Given the description of an element on the screen output the (x, y) to click on. 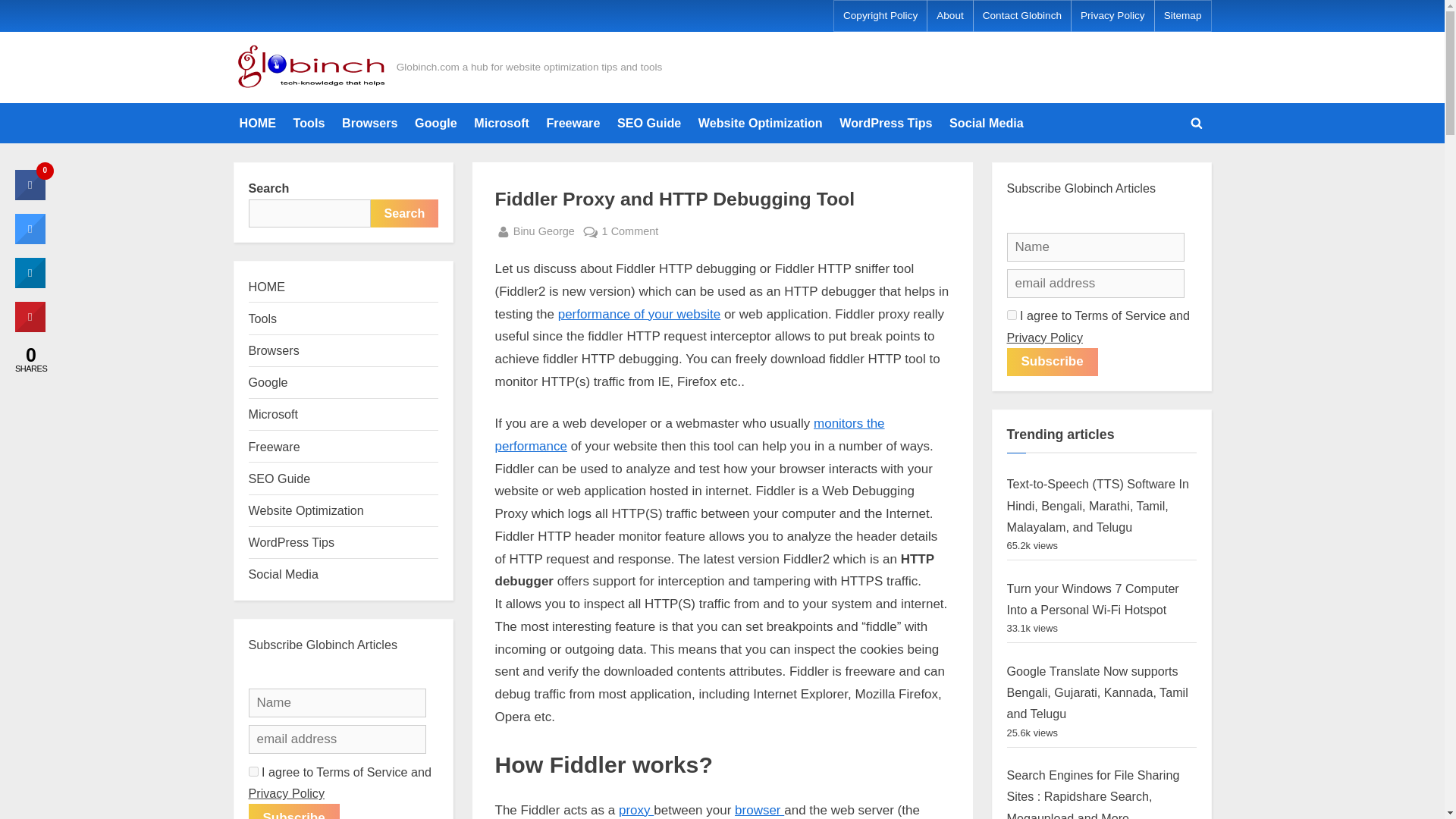
Toggle search form (1196, 123)
Microsoft Products Tips (501, 123)
Sitemap (1182, 15)
Website Optimization Techniques (760, 123)
WordPress Tips (884, 123)
Microsoft (501, 123)
Globinch Sitemap (546, 230)
true (1182, 15)
proxy (1011, 315)
monitors the performance (635, 810)
Privacy Policy (689, 434)
Useful Freeware Tools (1112, 15)
browser (572, 123)
Copyright Policy and Fair Use Guide (759, 810)
